Given the description of an element on the screen output the (x, y) to click on. 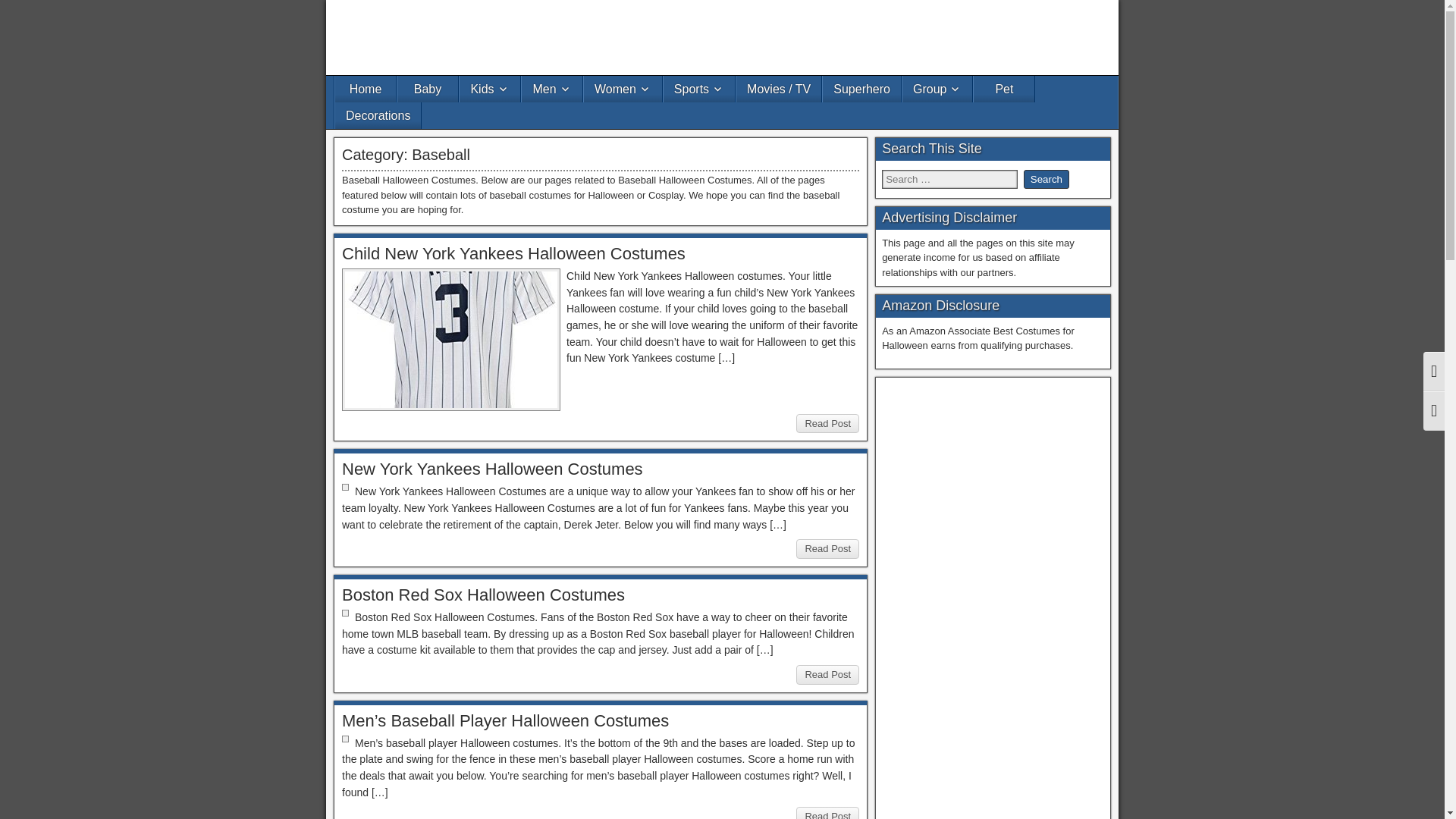
Men (551, 89)
Read Post (827, 548)
Kids Halloween Costumes (489, 89)
Baby (427, 89)
Superhero (861, 89)
Child New York Yankees Halloween Costumes (513, 253)
Halloween Costumes for Babies (427, 89)
New York Yankees Halloween Costumes (492, 468)
Women (622, 89)
Decorations (377, 115)
